Given the description of an element on the screen output the (x, y) to click on. 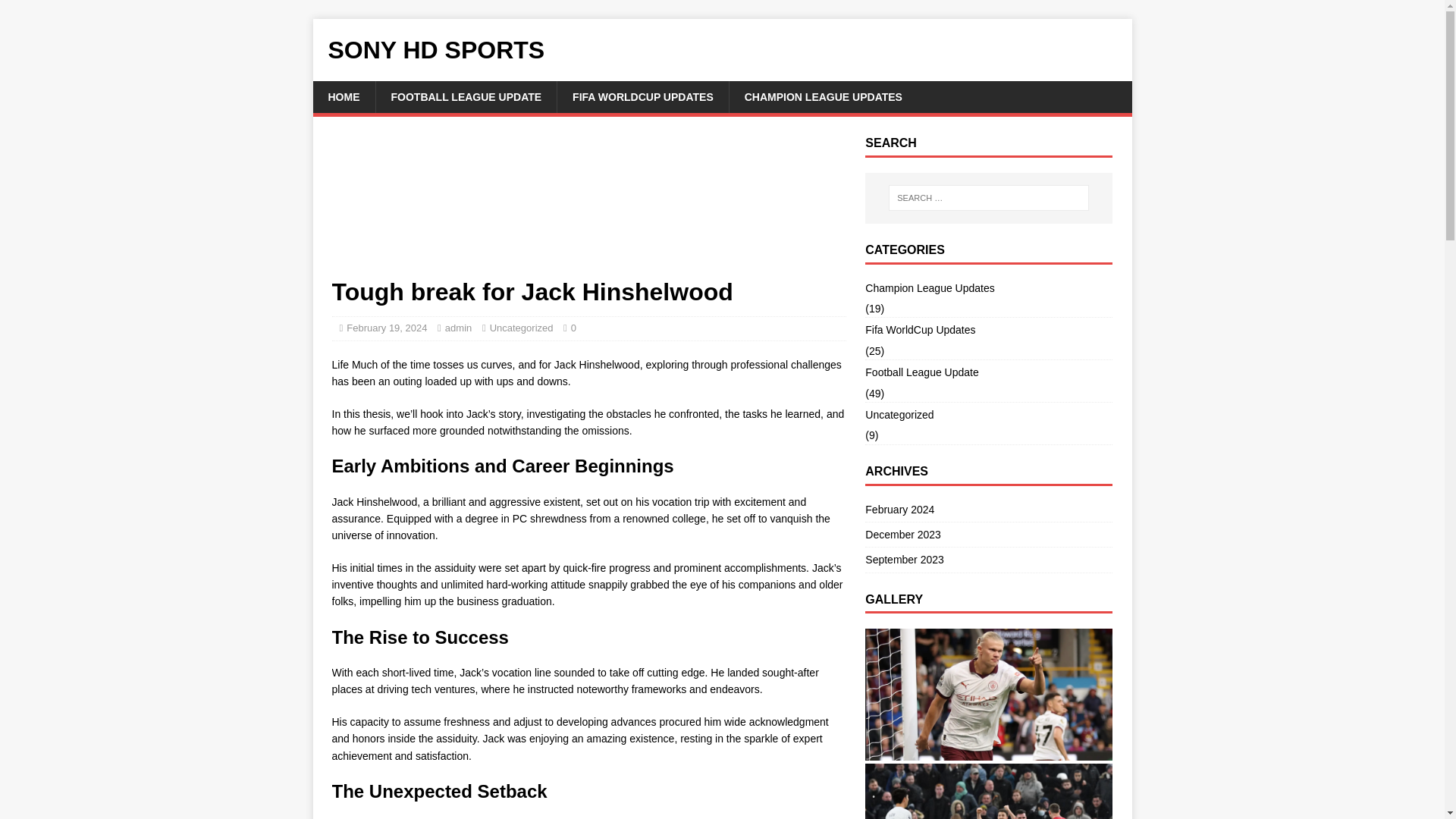
Search (56, 11)
September 2023 (988, 559)
Football League Update (988, 372)
February 2024 (988, 510)
CHAMPION LEAGUE UPDATES (823, 97)
SONY HD SPORTS (721, 49)
December 2023 (988, 534)
FIFA WORLDCUP UPDATES (642, 97)
FOOTBALL LEAGUE UPDATE (465, 97)
Advertisement (588, 206)
February 19, 2024 (386, 327)
Champion League Updates (988, 290)
Sony HD Sports (721, 49)
Fifa WorldCup Updates (988, 329)
admin (458, 327)
